Given the description of an element on the screen output the (x, y) to click on. 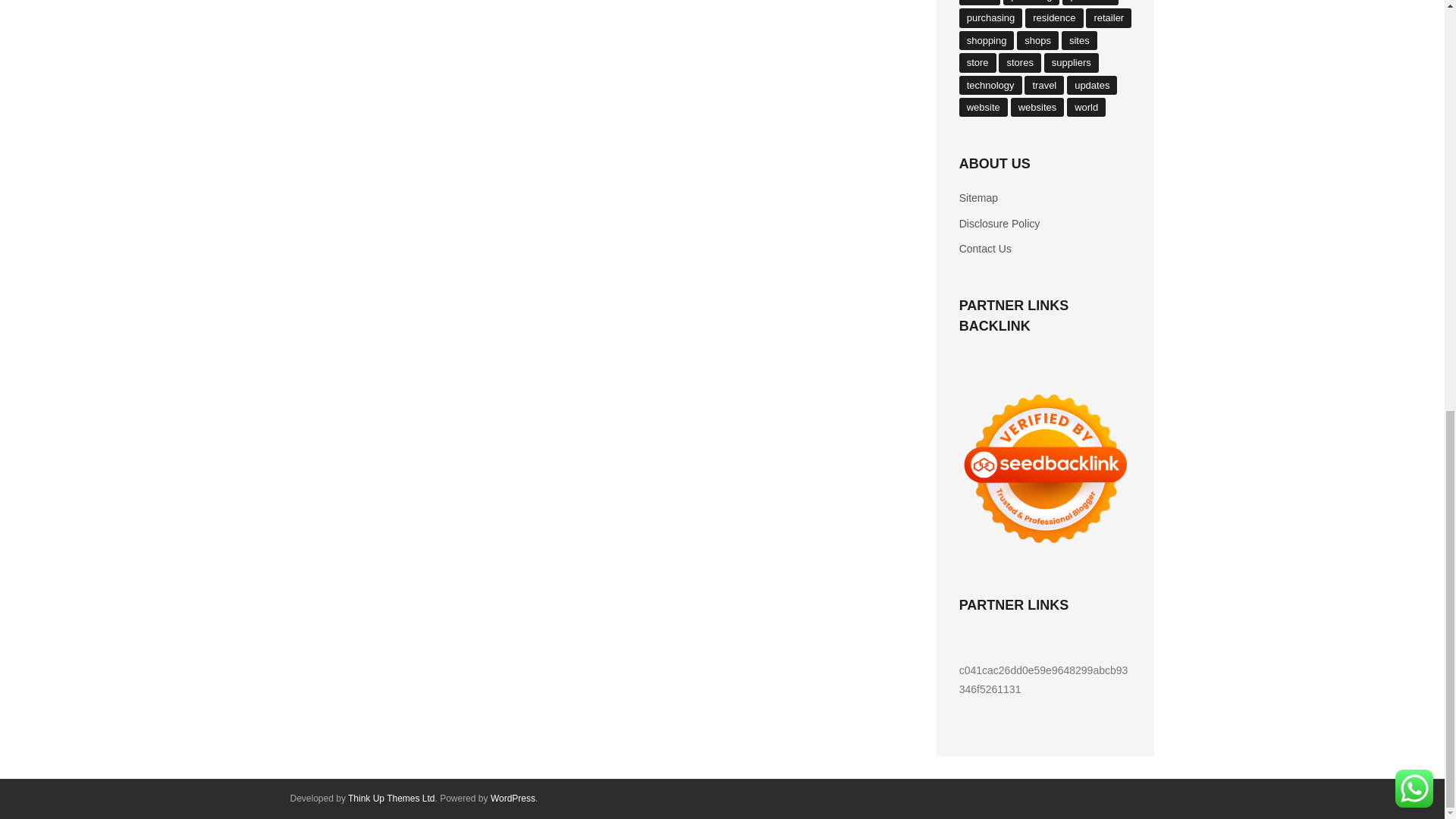
Seedbacklink (1045, 468)
